Given the description of an element on the screen output the (x, y) to click on. 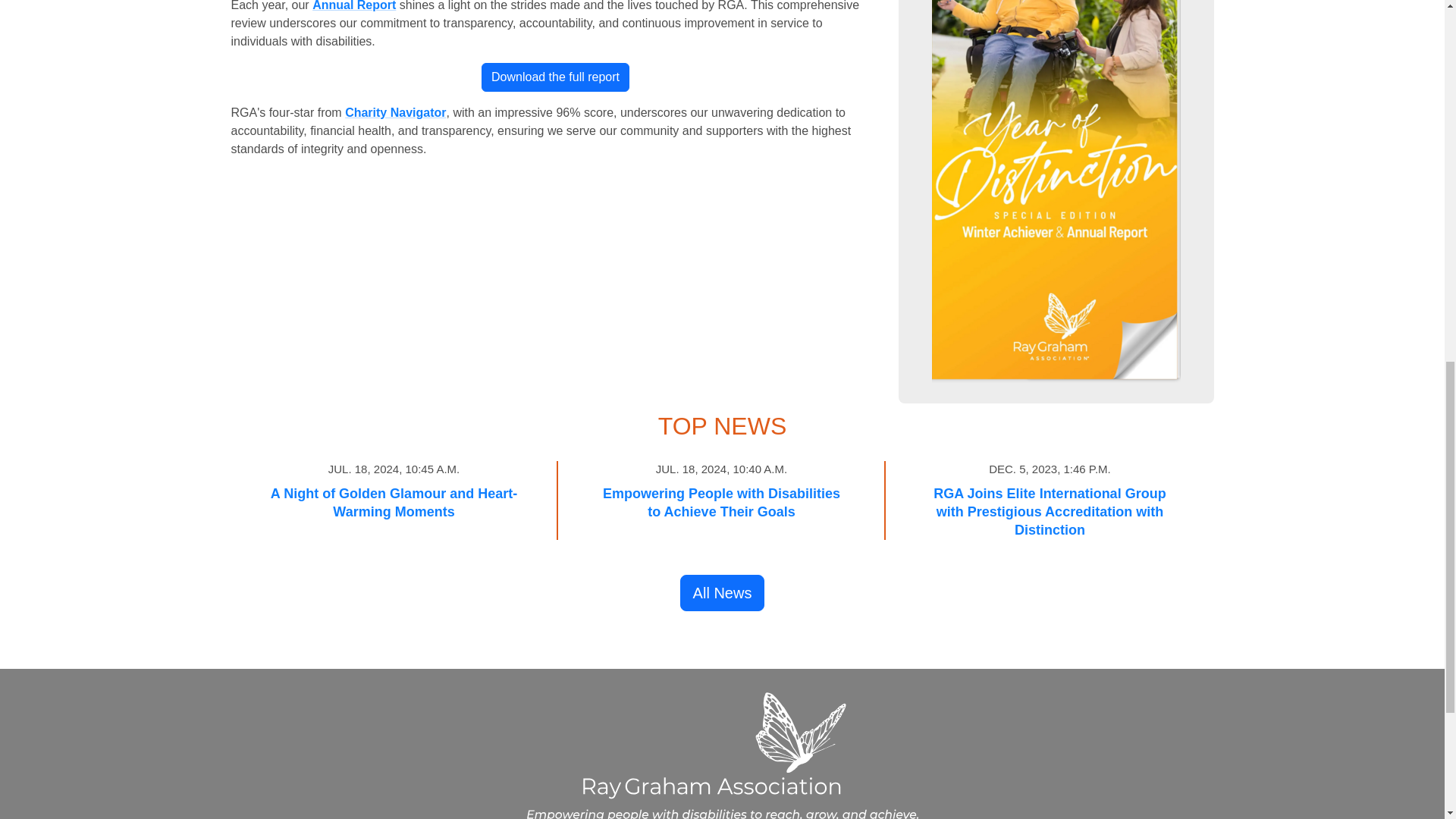
Download the full report (554, 77)
Annual Report (354, 5)
